Given the description of an element on the screen output the (x, y) to click on. 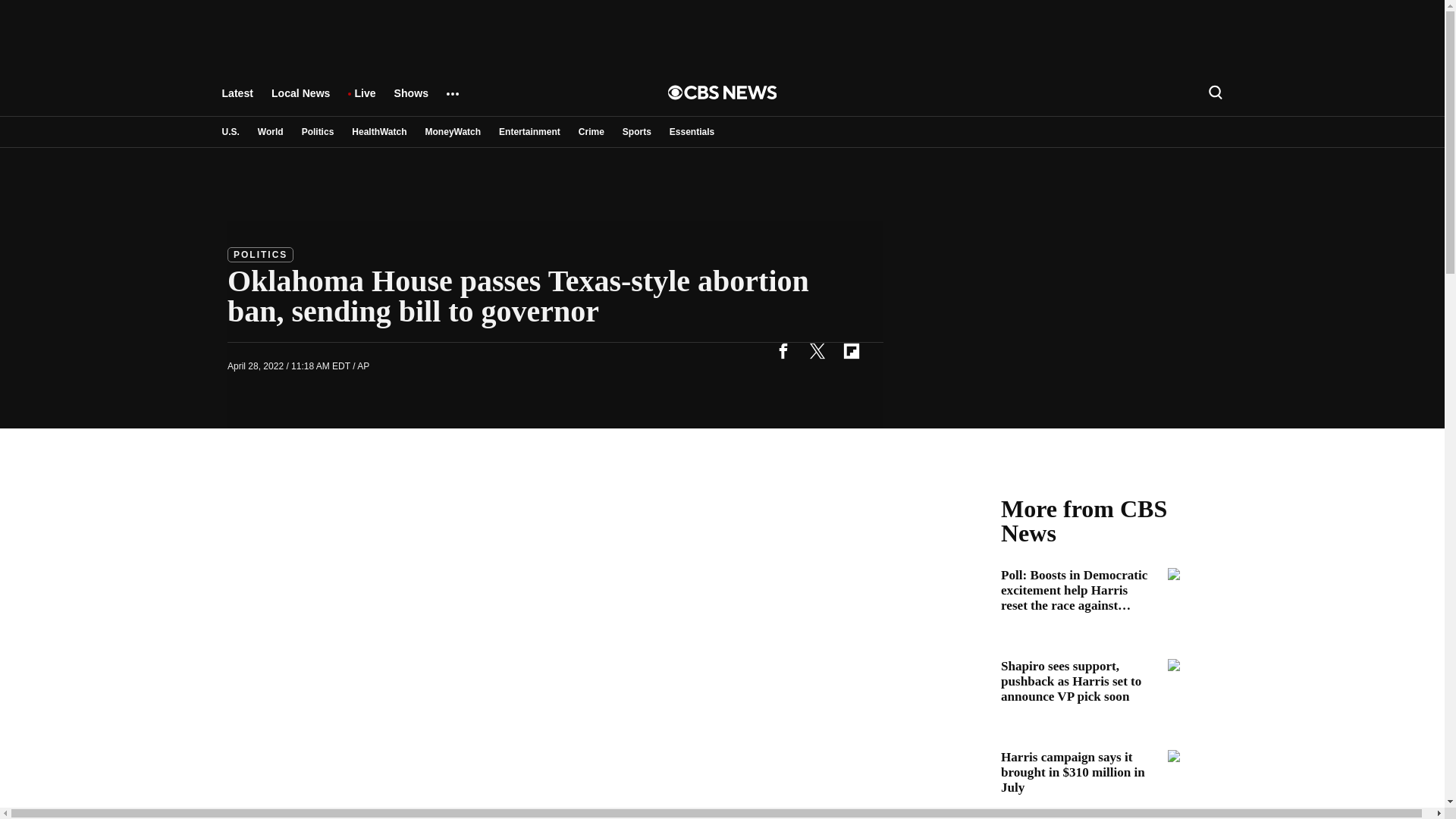
twitter (816, 350)
facebook (782, 350)
Latest (236, 100)
flipboard (850, 350)
Local News (300, 100)
